Given the description of an element on the screen output the (x, y) to click on. 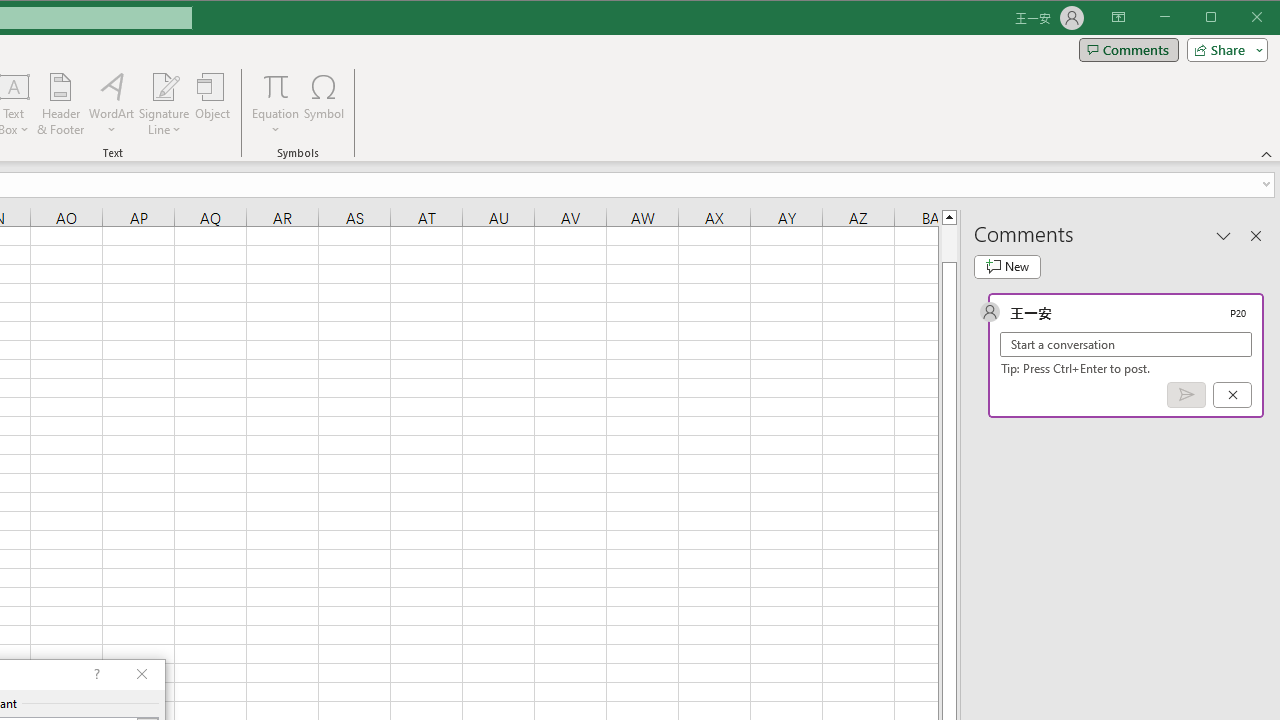
Maximize (1239, 18)
Equation (275, 104)
Post comment (Ctrl + Enter) (1186, 395)
Equation (275, 86)
Signature Line (164, 86)
Symbol... (324, 104)
